Given the description of an element on the screen output the (x, y) to click on. 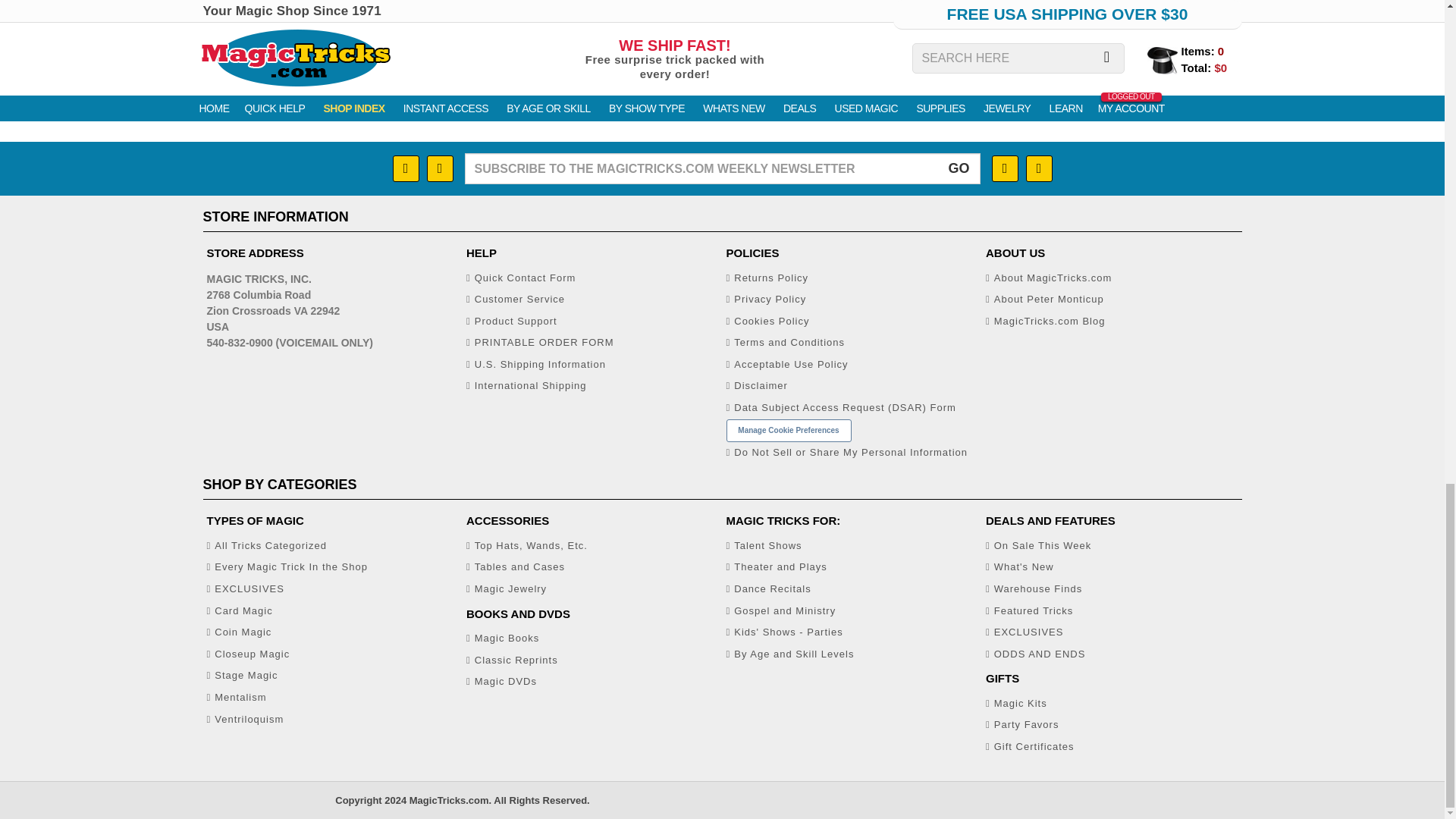
Follow Us on Twitter (1038, 168)
Follow Us on Pinterest (1004, 168)
Like Us on Facebook (406, 168)
Follow Us on Instagram (439, 168)
